Given the description of an element on the screen output the (x, y) to click on. 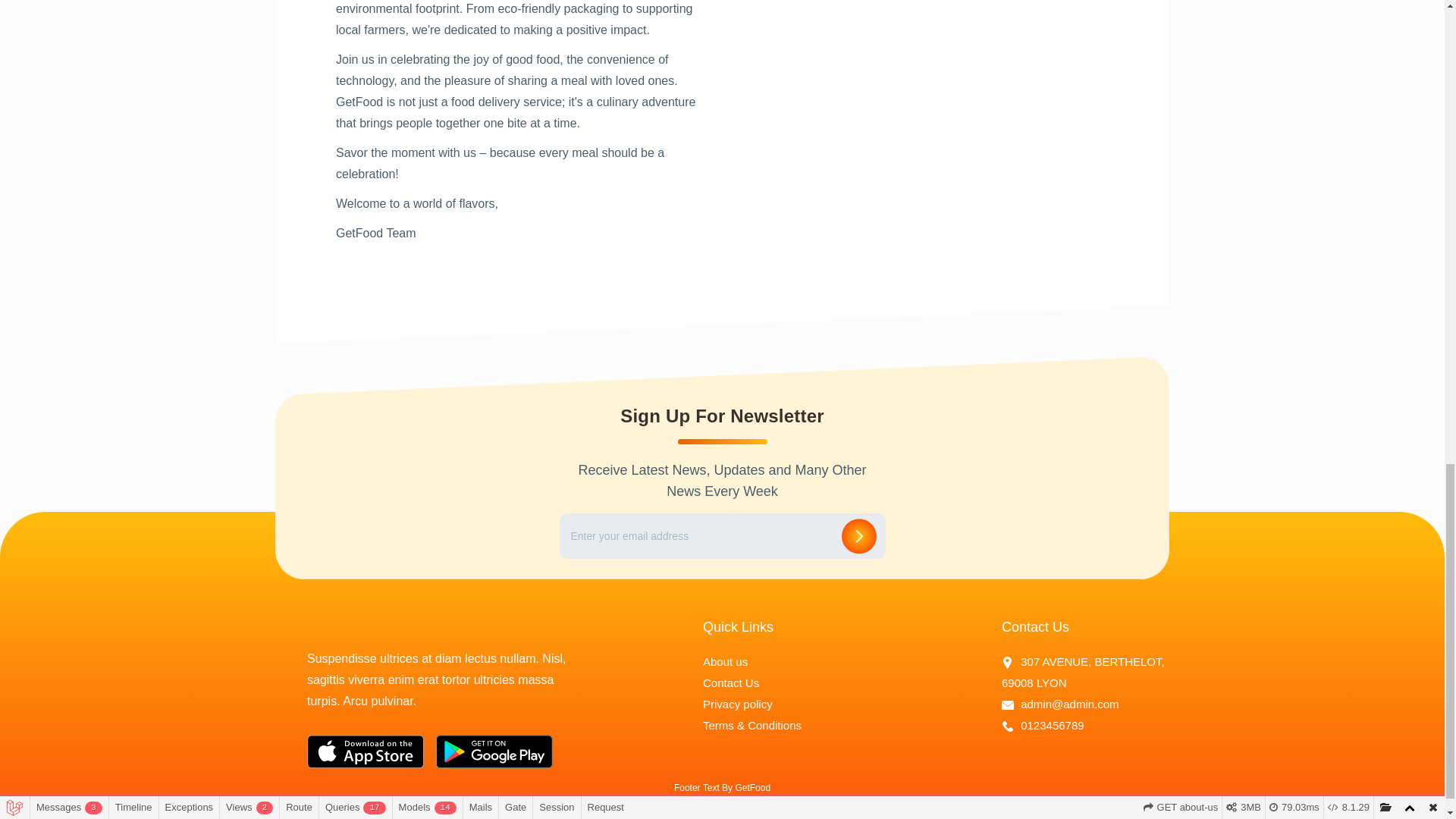
About us (725, 661)
Contact Us (730, 682)
307 AVENUE, BERTHELOT, 69008 LYON (1085, 672)
0123456789 (1042, 725)
Privacy policy (738, 703)
